Given the description of an element on the screen output the (x, y) to click on. 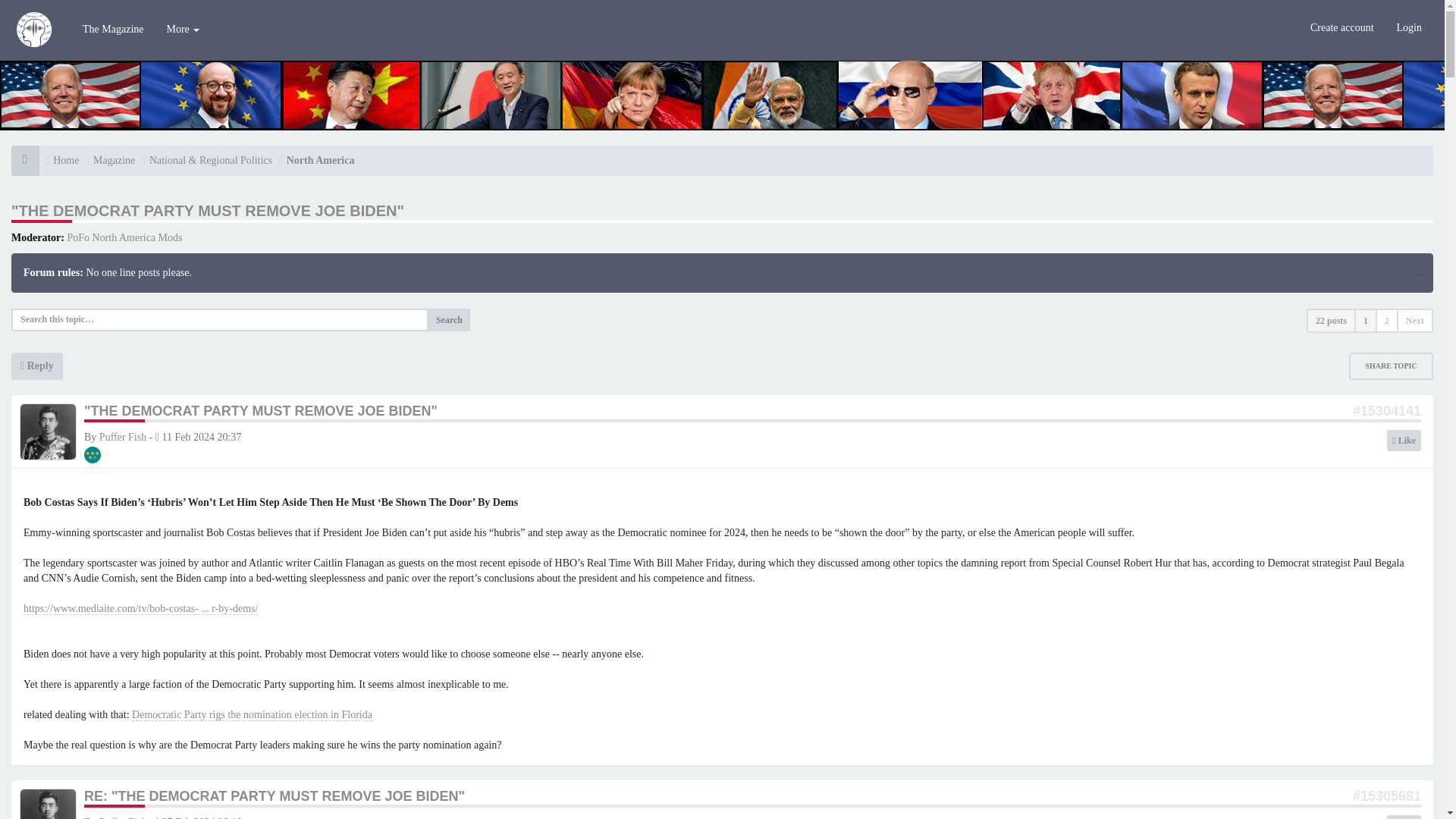
 Reply (36, 366)
"THE DEMOCRAT PARTY MUST REMOVE JOE BIDEN" (207, 210)
User mini profile (48, 430)
Search (449, 319)
"THE DEMOCRAT PARTY MUST REMOVE JOE BIDEN" (261, 410)
PoFo North America Mods (124, 237)
1 (1365, 320)
Next (1414, 320)
22 posts (1330, 320)
2 (1386, 320)
